Given the description of an element on the screen output the (x, y) to click on. 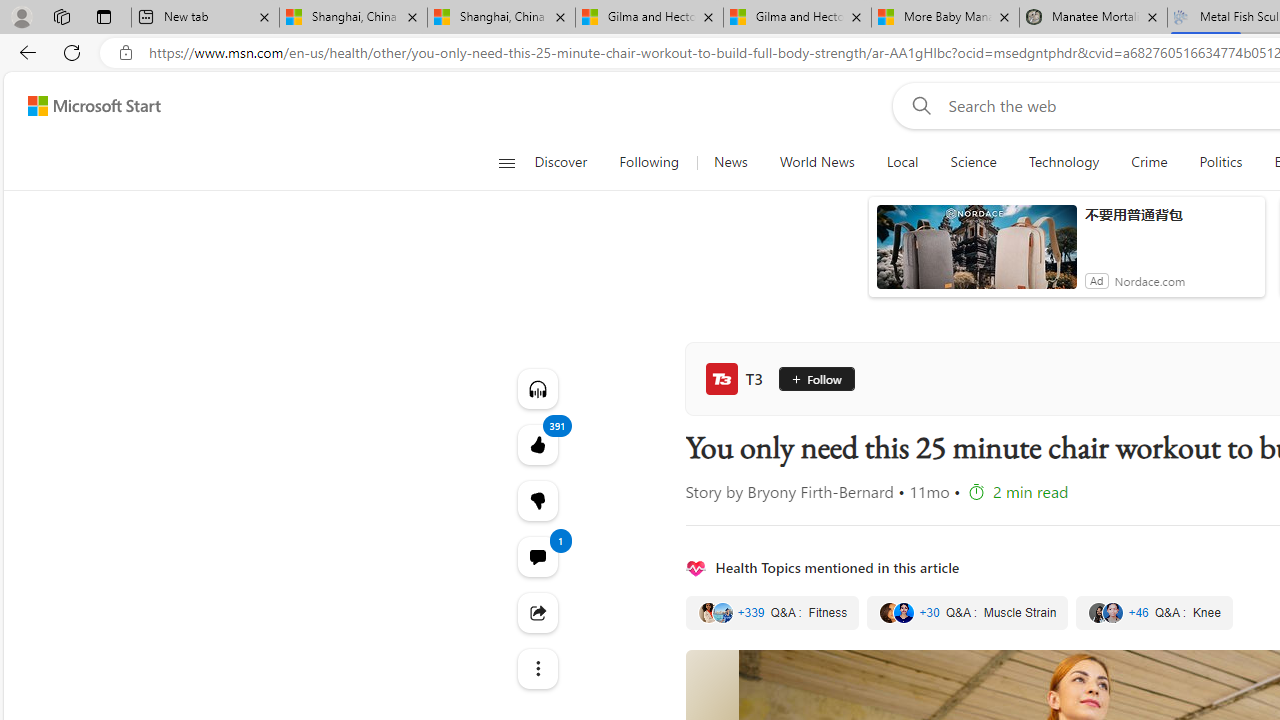
Open navigation menu (506, 162)
Local (902, 162)
Muscle Strain (967, 613)
Technology (1064, 162)
View comments 1 Comment (537, 556)
World News (817, 162)
Local (902, 162)
